Given the description of an element on the screen output the (x, y) to click on. 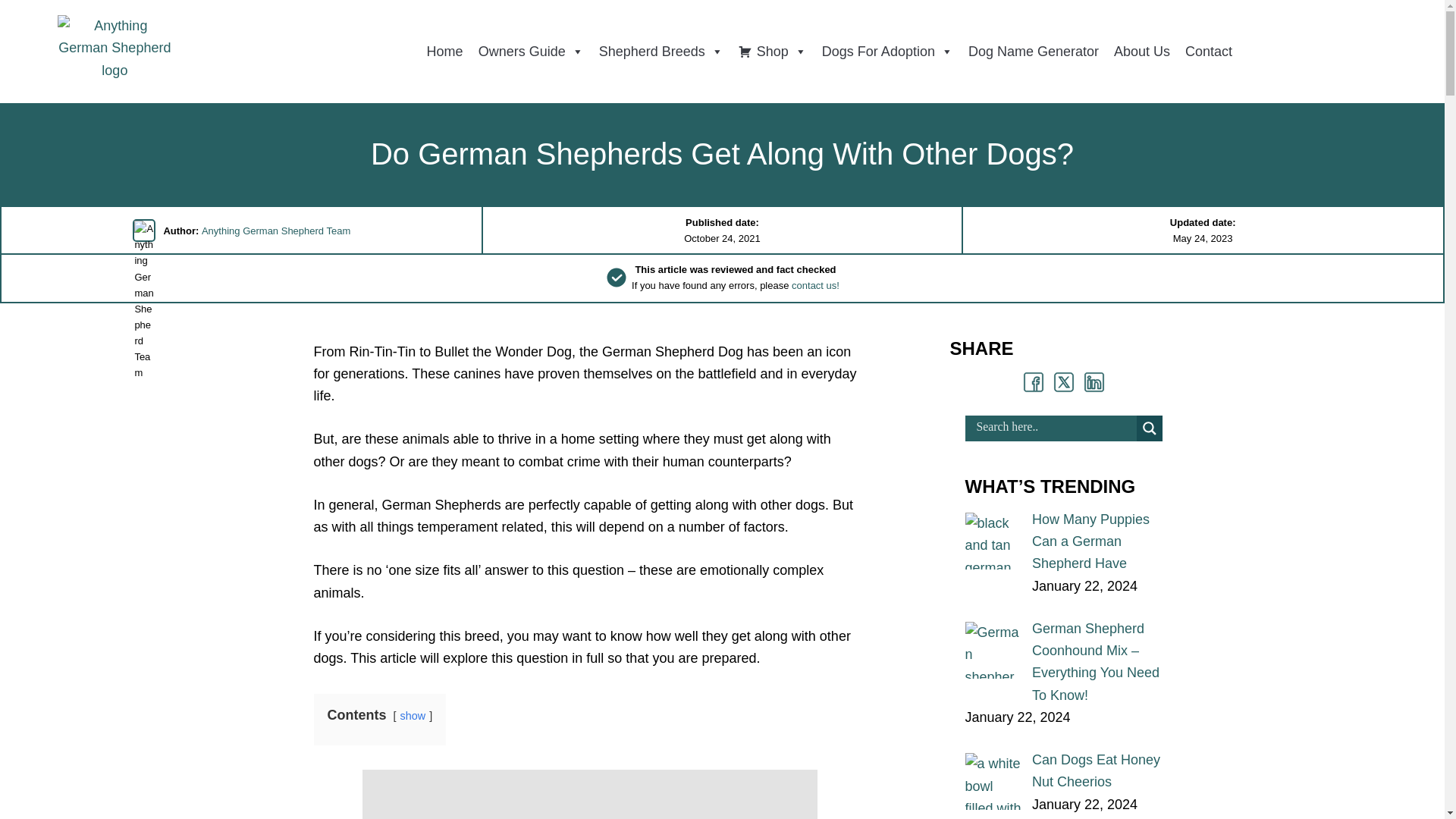
Shepherd Breeds (660, 51)
cropped-LOGO-scaled-1.jpg (114, 51)
Home (444, 51)
Shop (771, 51)
Owners Guide (530, 51)
